Given the description of an element on the screen output the (x, y) to click on. 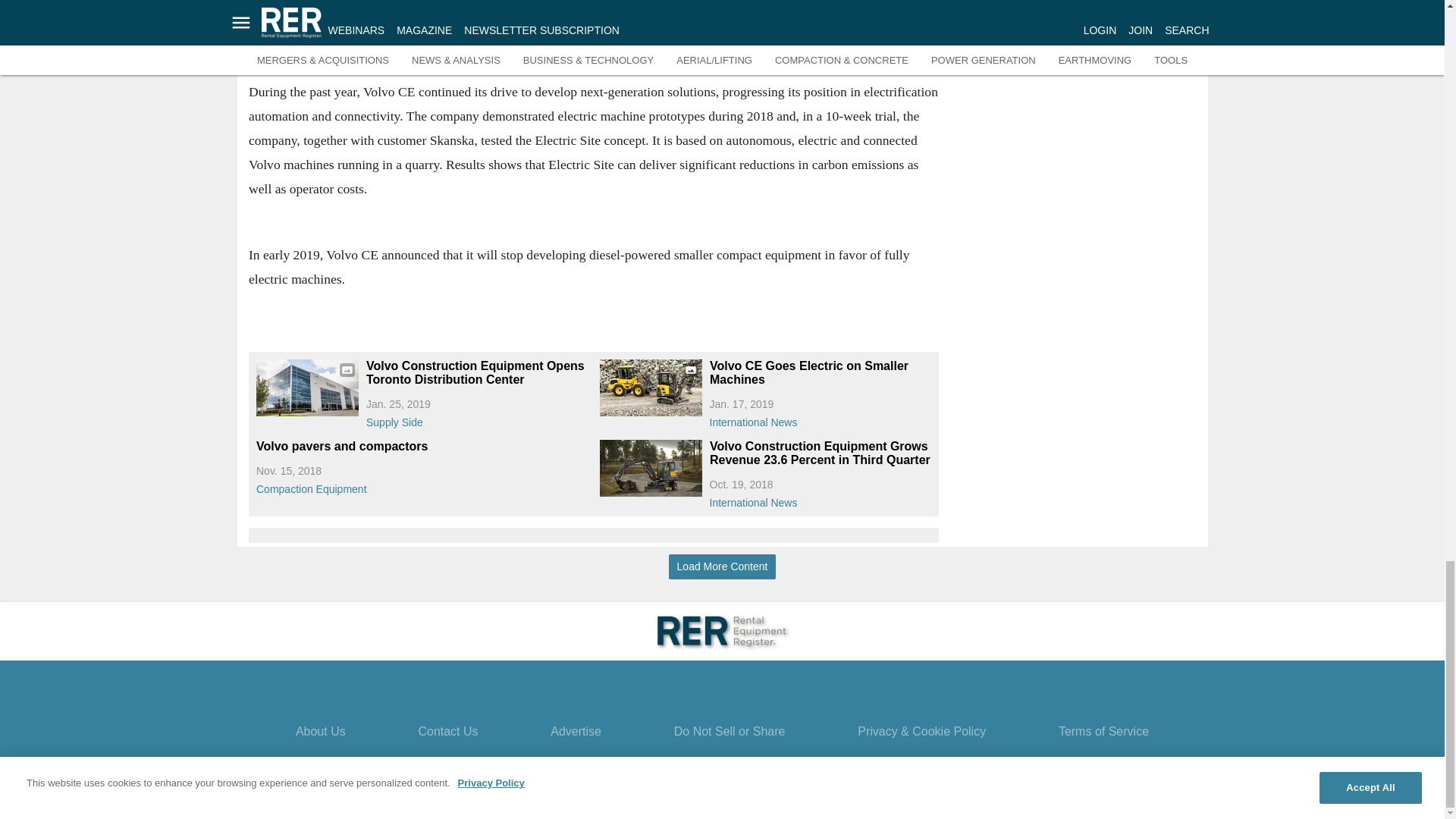
A Volvo wheeled compact excavator (649, 467)
